Given the description of an element on the screen output the (x, y) to click on. 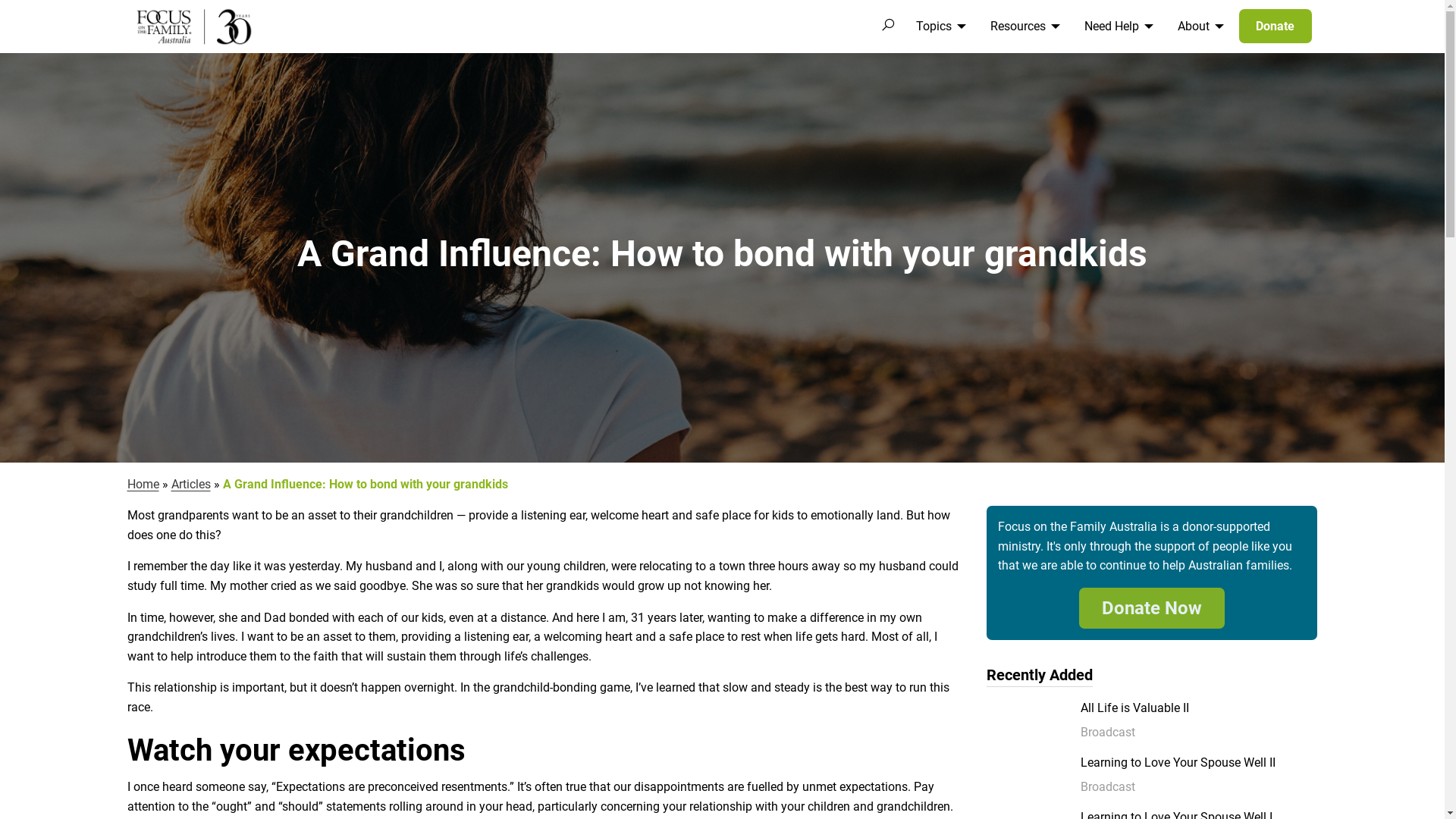
Need Help Element type: text (1116, 26)
Skip to content Element type: text (0, 0)
Donate Element type: text (1275, 26)
Home Element type: text (143, 483)
Topics Element type: text (937, 26)
Donate Now Element type: text (1151, 607)
Learning to Love Your Spouse Well II
Broadcast Element type: text (1198, 774)
Articles Element type: text (190, 483)
All Life is Valuable II
Broadcast Element type: text (1198, 720)
Resources Element type: text (1022, 26)
About Element type: text (1197, 26)
